Given the description of an element on the screen output the (x, y) to click on. 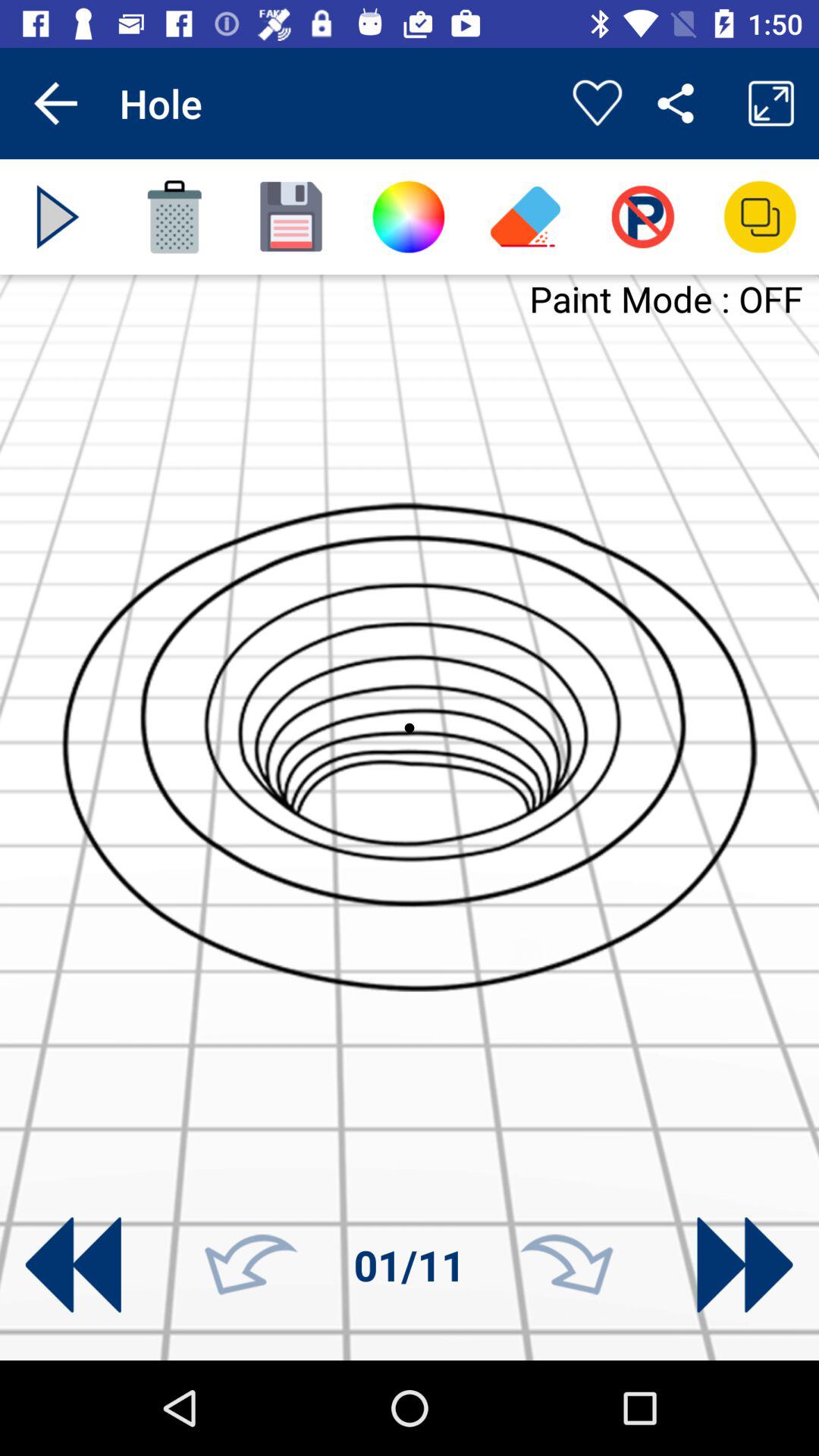
mark as favorite (597, 102)
